Given the description of an element on the screen output the (x, y) to click on. 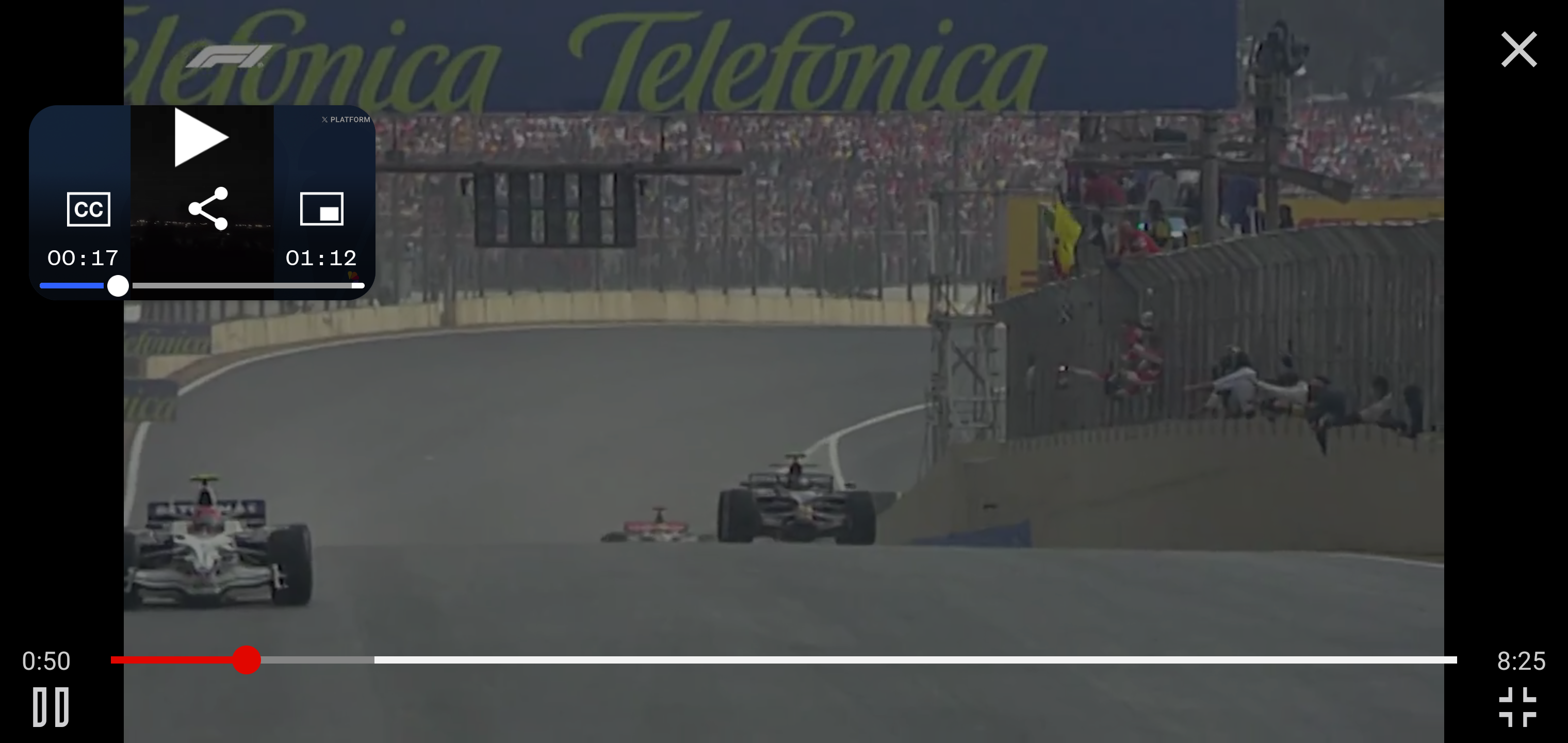
 Close (1518, 49)
B Pause (50, 706)
D Exit Fullscreen (1517, 706)
